Given the description of an element on the screen output the (x, y) to click on. 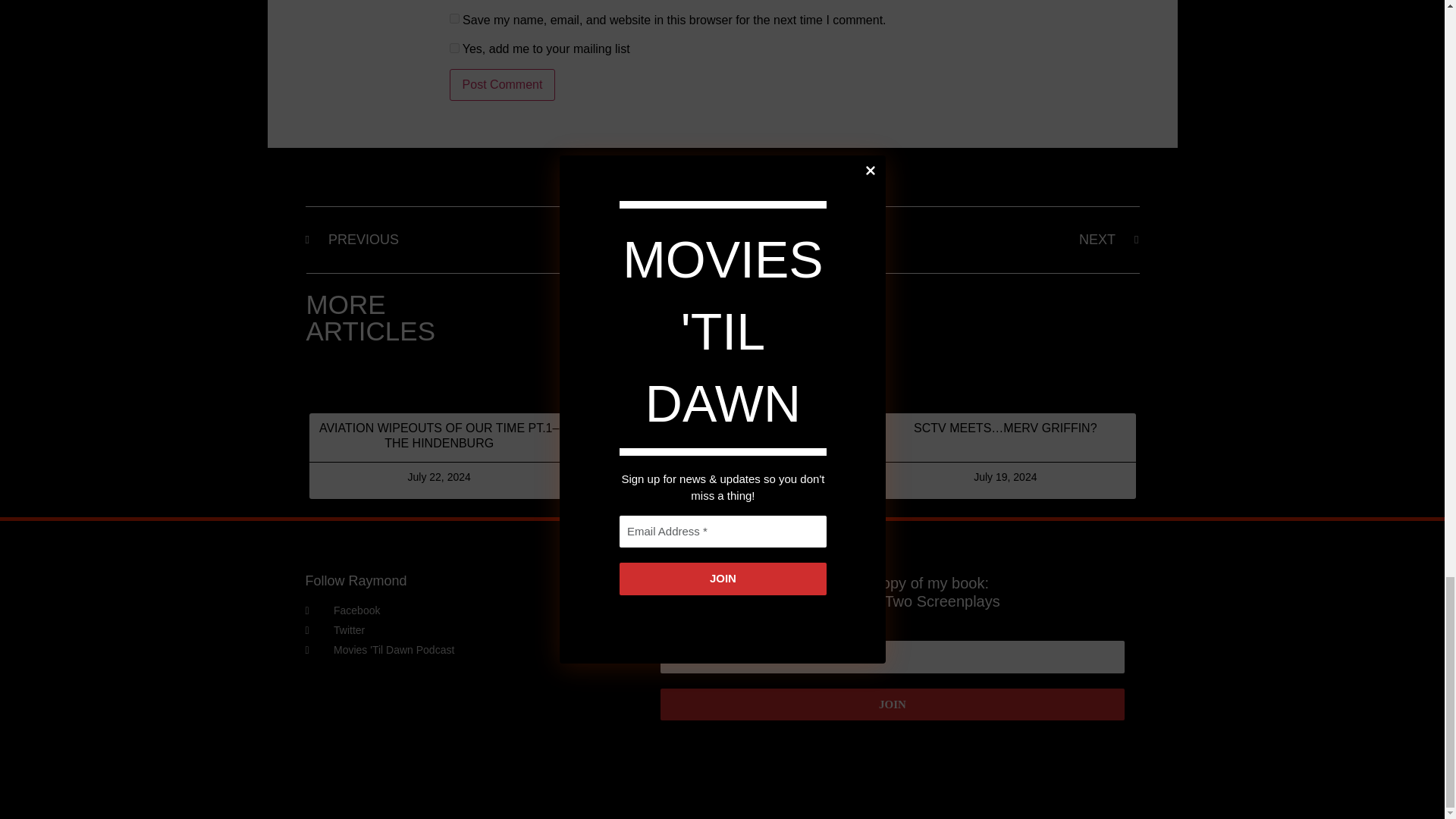
Post Comment (502, 84)
JOIN (891, 704)
1 (454, 48)
yes (454, 18)
Email Address (891, 656)
